Given the description of an element on the screen output the (x, y) to click on. 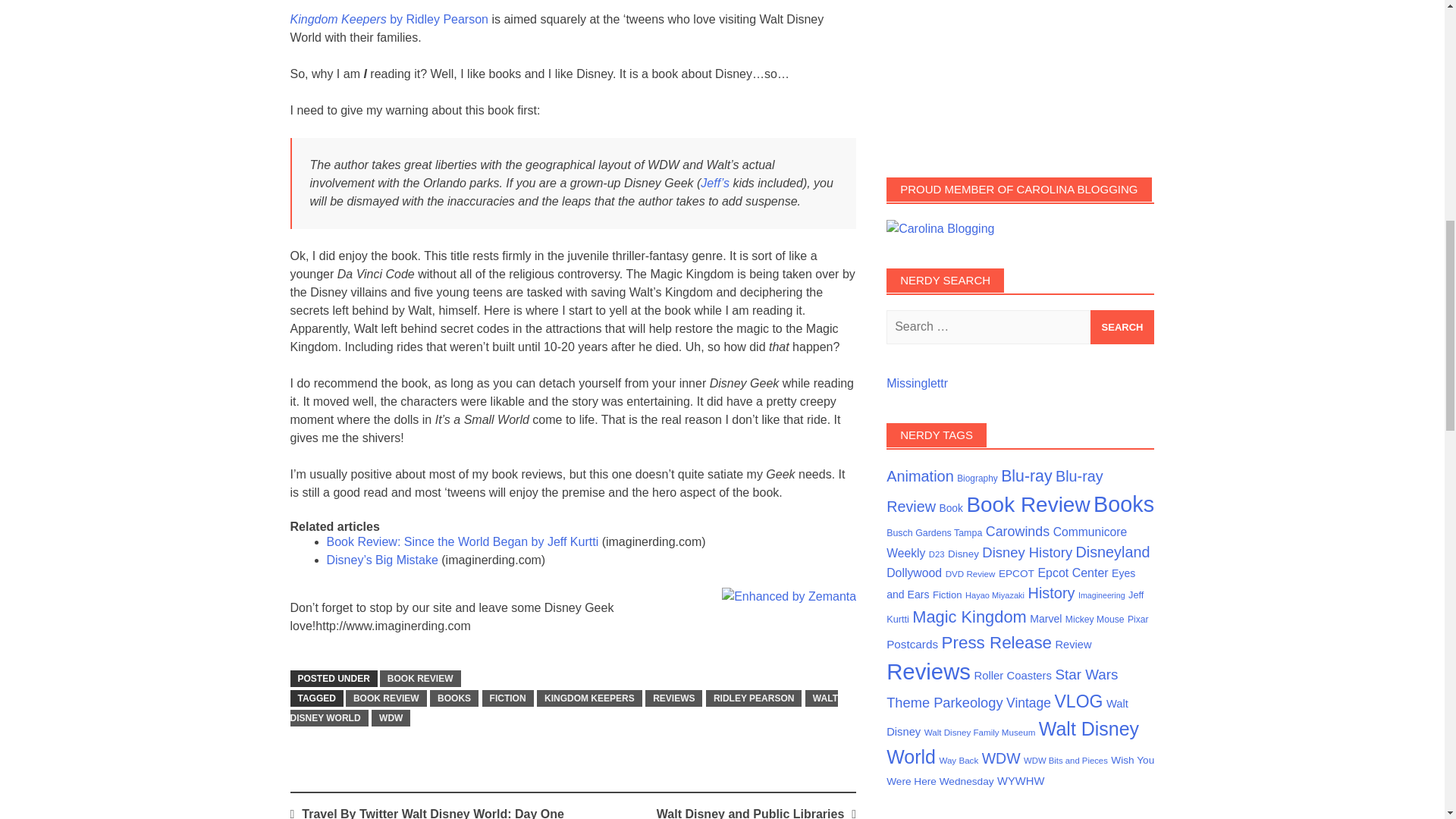
BOOKS (454, 698)
Kingdom Keepers by Ridley Pearson (388, 19)
WDW (390, 718)
KINGDOM KEEPERS (589, 698)
Book Review: Since the World Began by Jeff Kurtti (462, 541)
Walt Disney and Public Libraries (750, 813)
Search (1122, 326)
Travel By Twitter Walt Disney World: Day One (432, 813)
RIDLEY PEARSON (754, 698)
WALT DISNEY WORLD (563, 708)
Search (1122, 326)
FICTION (507, 698)
BOOK REVIEW (420, 678)
REVIEWS (673, 698)
BOOK REVIEW (386, 698)
